Given the description of an element on the screen output the (x, y) to click on. 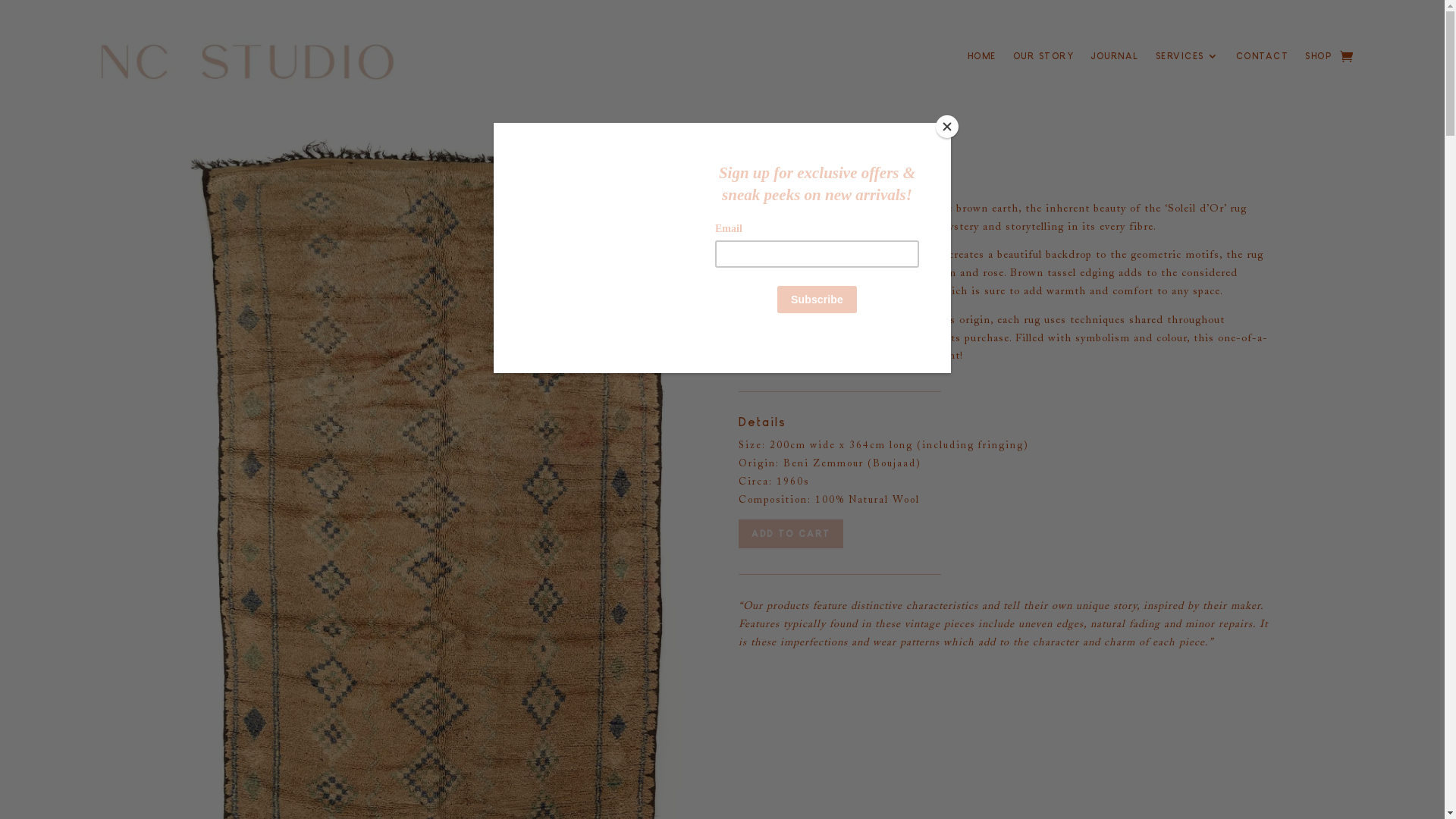
OUR STORY Element type: text (1043, 59)
ADD TO CART Element type: text (790, 533)
SERVICES Element type: text (1187, 59)
JOURNAL Element type: text (1114, 59)
HOME Element type: text (981, 59)
SHOP Element type: text (1318, 59)
CONTACT Element type: text (1262, 59)
